Given the description of an element on the screen output the (x, y) to click on. 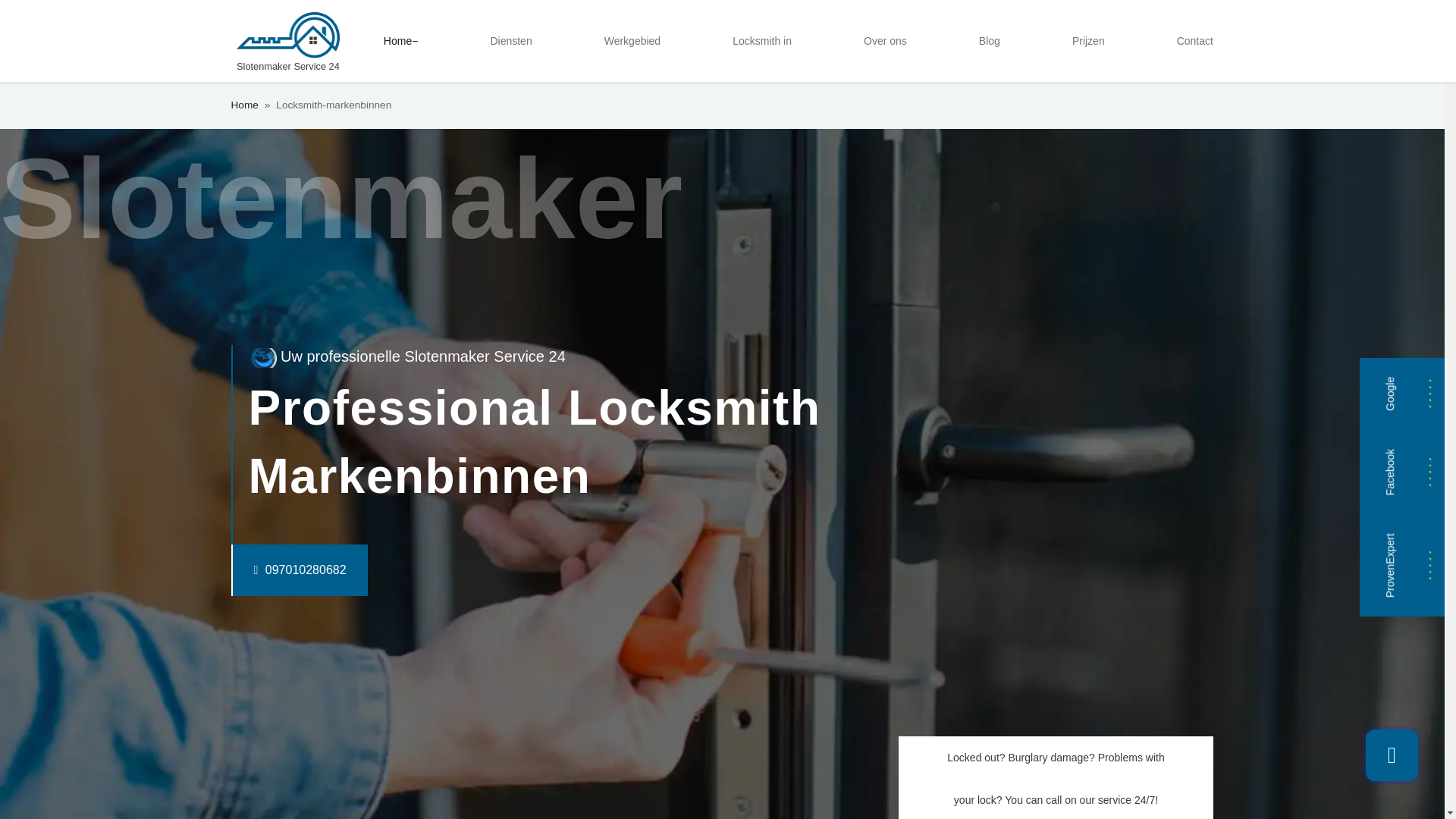
Diensten (510, 40)
Home (243, 105)
Locksmith in (761, 40)
Home (401, 40)
Slotenmaker Service 24 (287, 40)
097010280682 (268, 570)
Werkgebied (632, 40)
Contact (1195, 40)
Blog (989, 40)
Over ons (884, 40)
Prijzen (1087, 40)
